Given the description of an element on the screen output the (x, y) to click on. 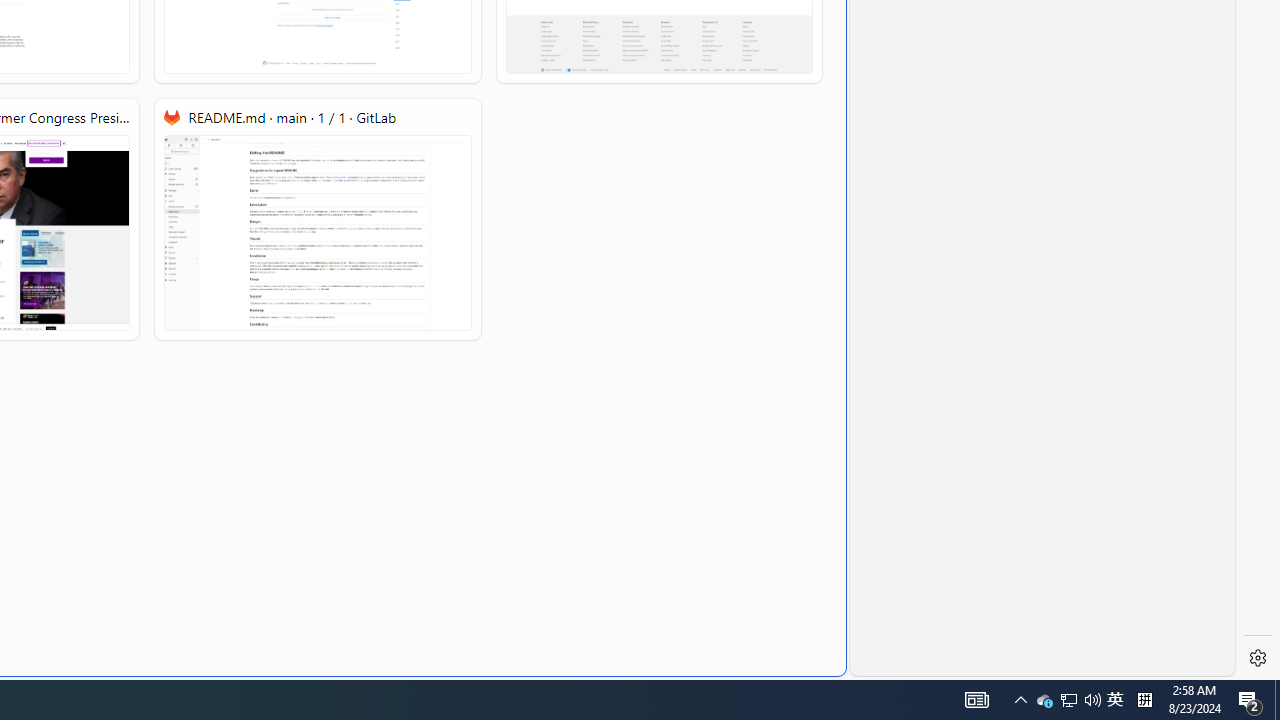
Settings (1258, 658)
